Given the description of an element on the screen output the (x, y) to click on. 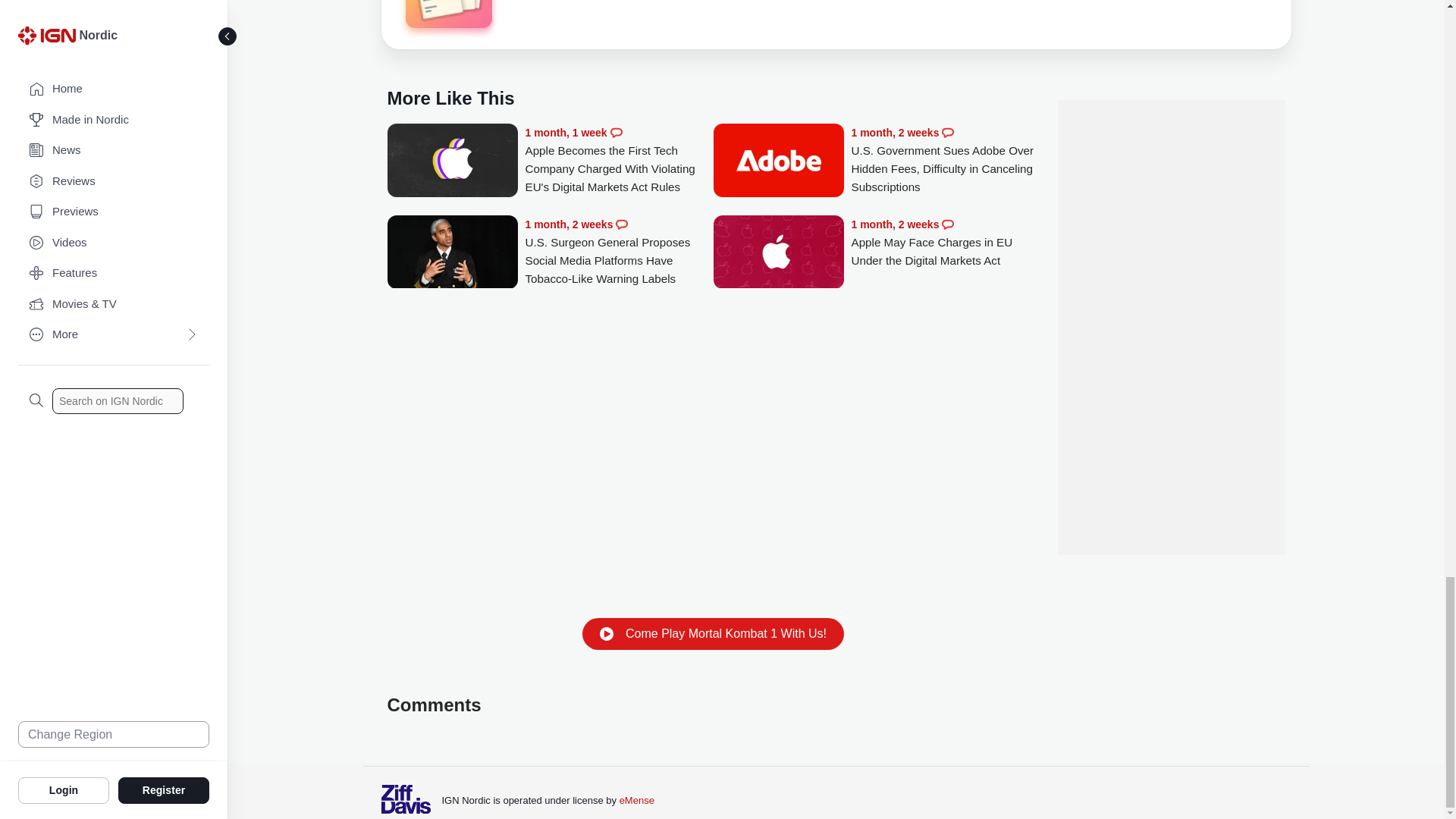
Comments (616, 132)
Apple May Face Charges in EU Under the Digital Markets Act (944, 243)
Apple May Face Charges in EU Under the Digital Markets Act (778, 253)
Comments (947, 132)
Comments (947, 224)
Comments (621, 224)
Policy (448, 13)
Policy (448, 16)
